Given the description of an element on the screen output the (x, y) to click on. 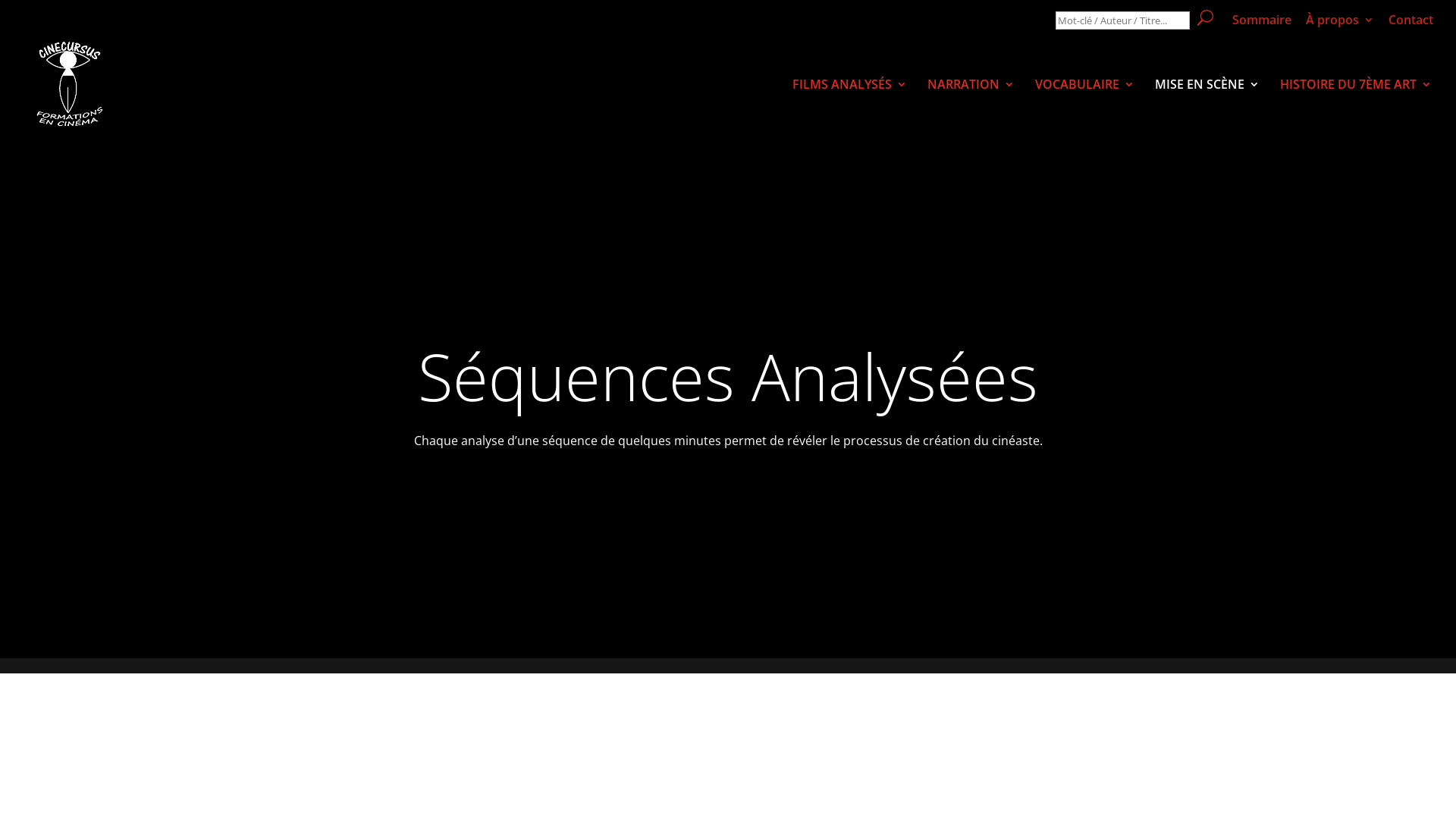
VOCABULAIRE Element type: text (1084, 103)
Sommaire Element type: text (1261, 23)
NARRATION Element type: text (970, 103)
Contact Element type: text (1410, 23)
U Element type: text (1204, 17)
